Given the description of an element on the screen output the (x, y) to click on. 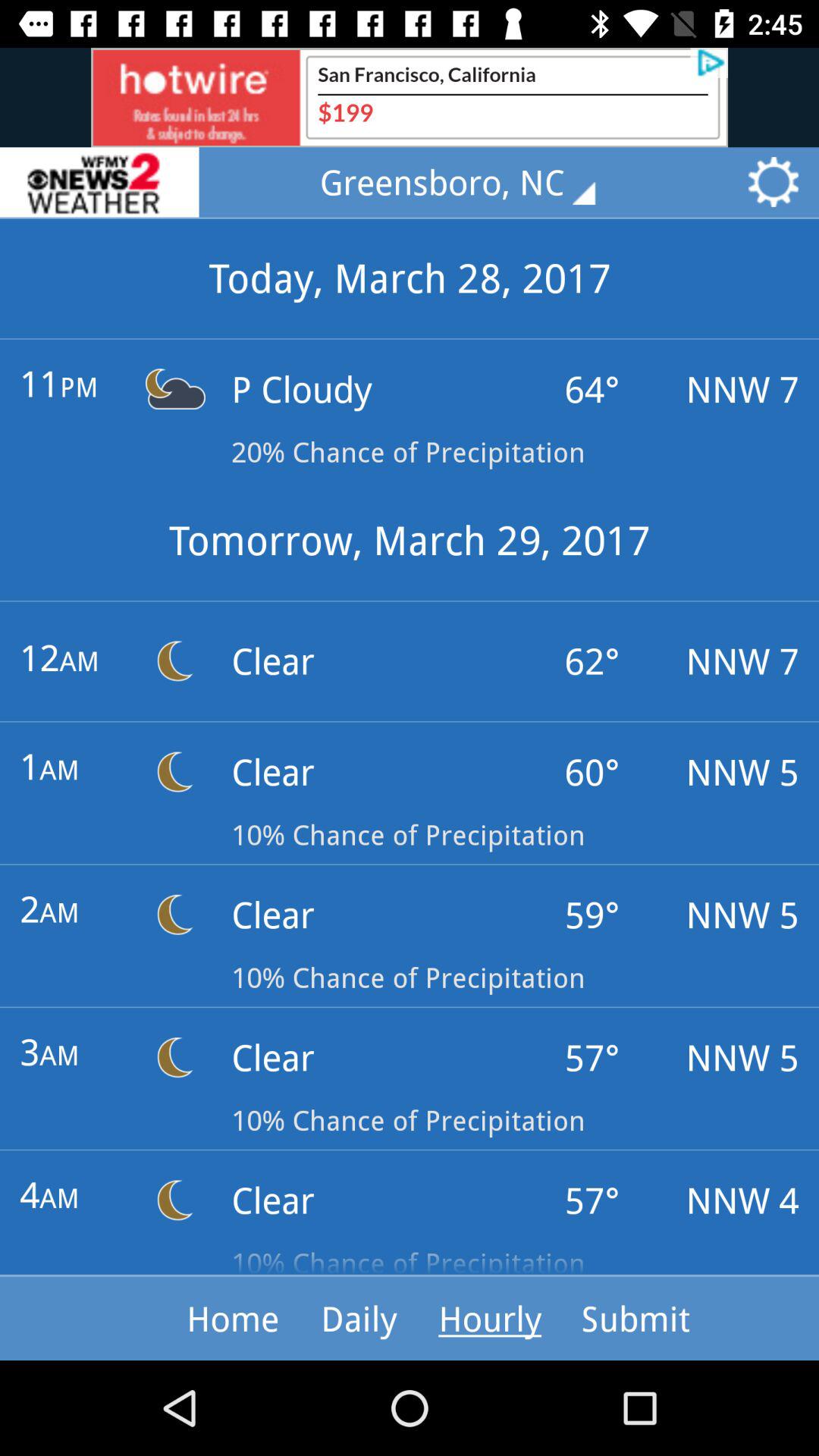
advertisement (409, 97)
